Given the description of an element on the screen output the (x, y) to click on. 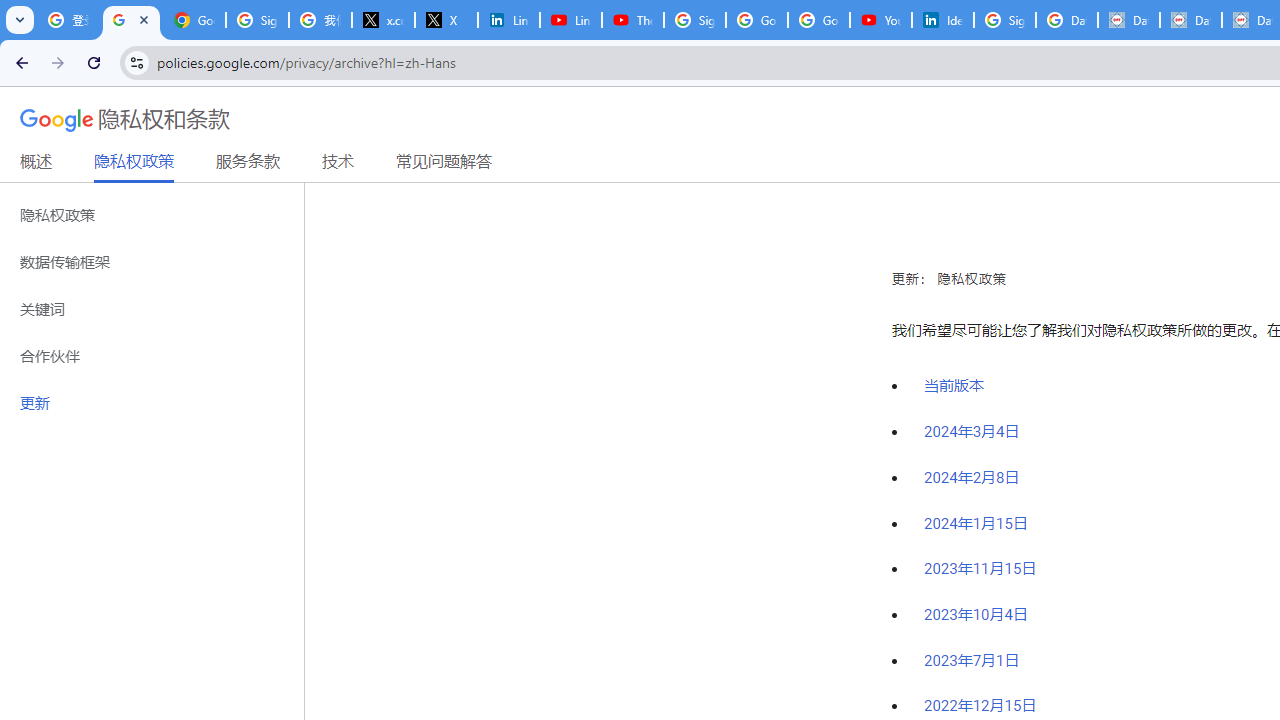
Sign in - Google Accounts (257, 20)
Data Privacy Framework (1190, 20)
LinkedIn - YouTube (570, 20)
